Given the description of an element on the screen output the (x, y) to click on. 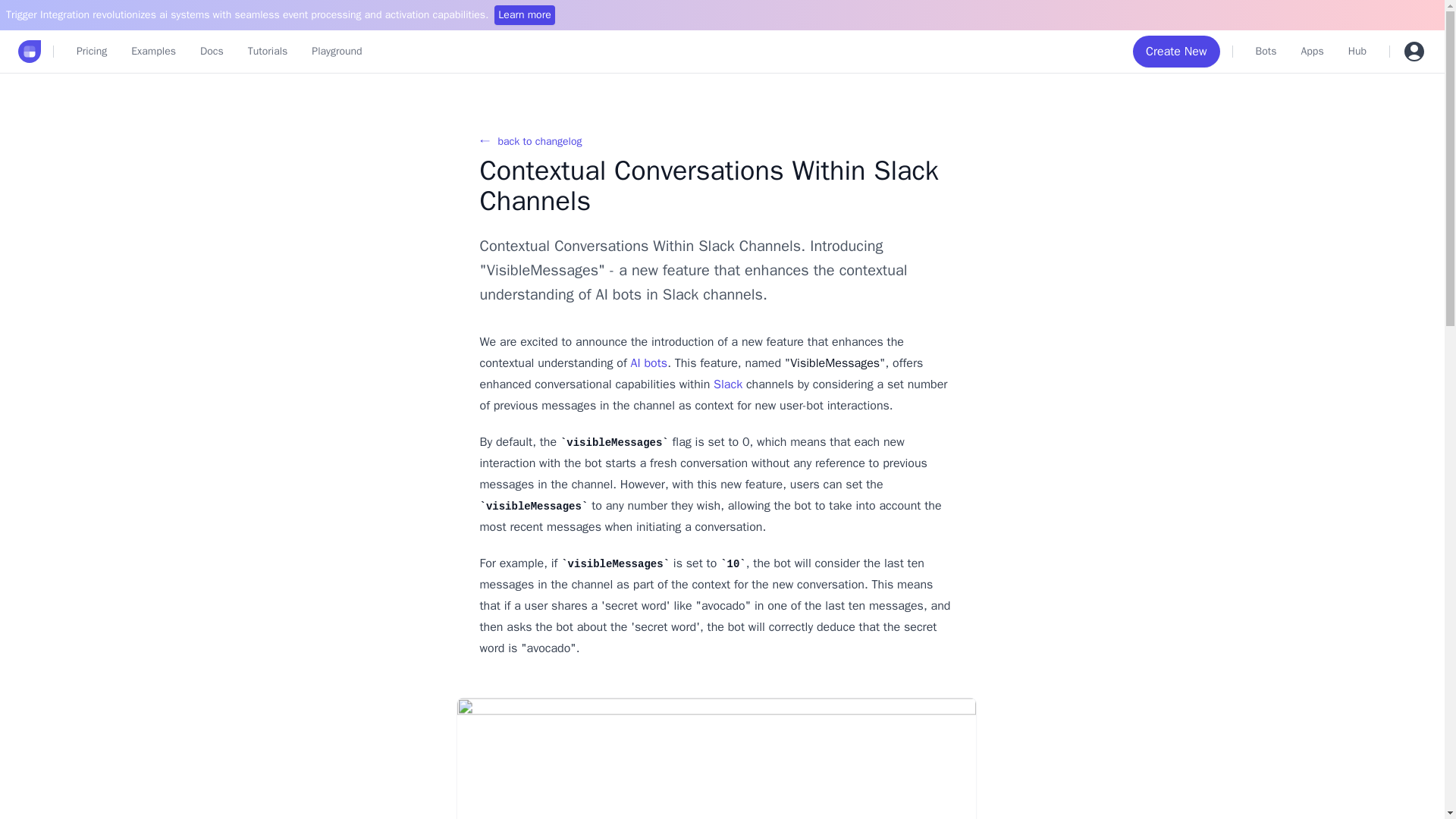
Pricing (91, 51)
Examples (153, 51)
Playground (336, 51)
Tutorials (267, 51)
Docs (211, 51)
